Given the description of an element on the screen output the (x, y) to click on. 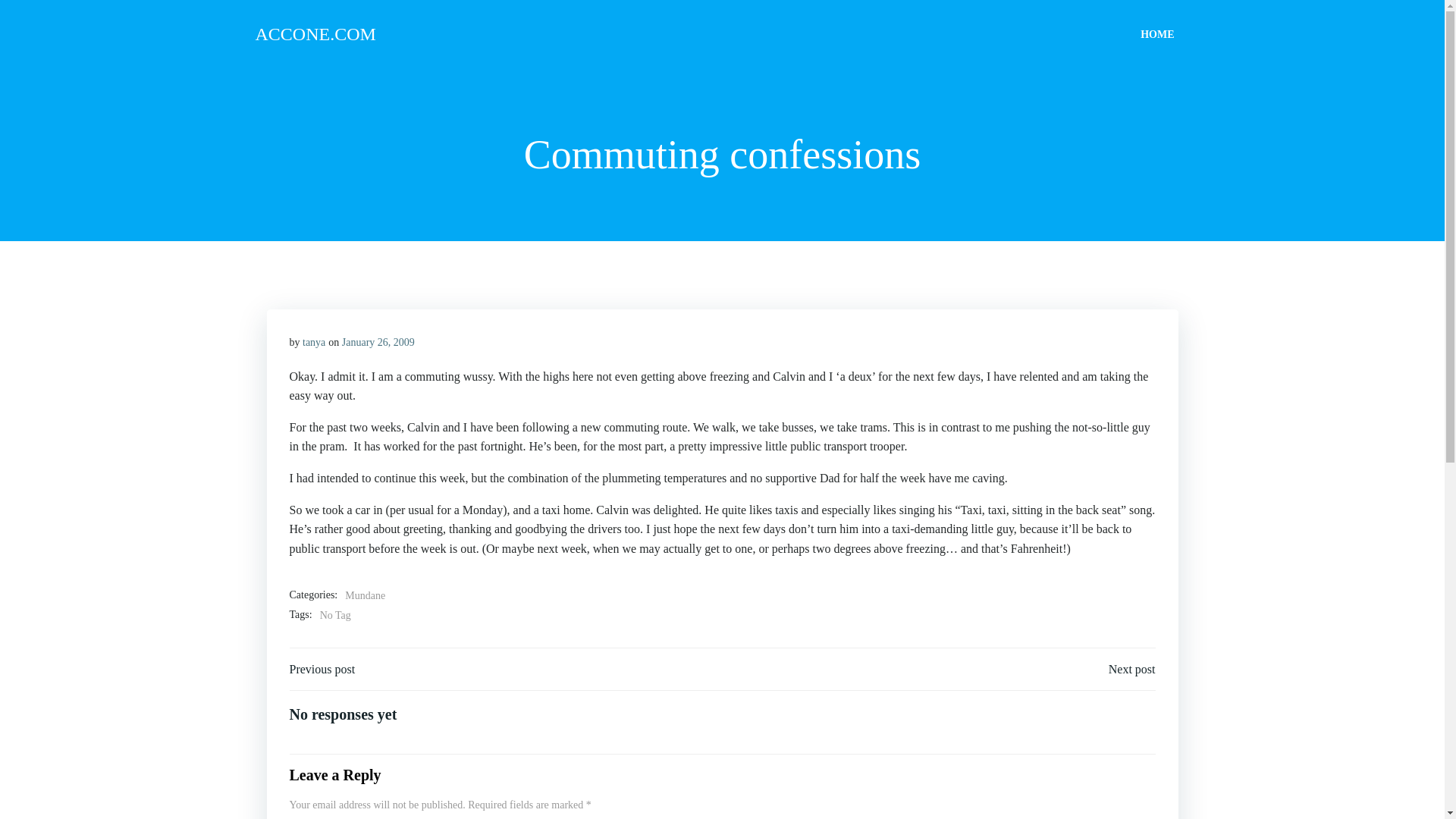
January 26, 2009 (378, 342)
ACCONE.COM (314, 33)
Previous post (322, 669)
tanya (313, 342)
HOME (1156, 33)
Mundane (365, 596)
Next post (1132, 669)
